Given the description of an element on the screen output the (x, y) to click on. 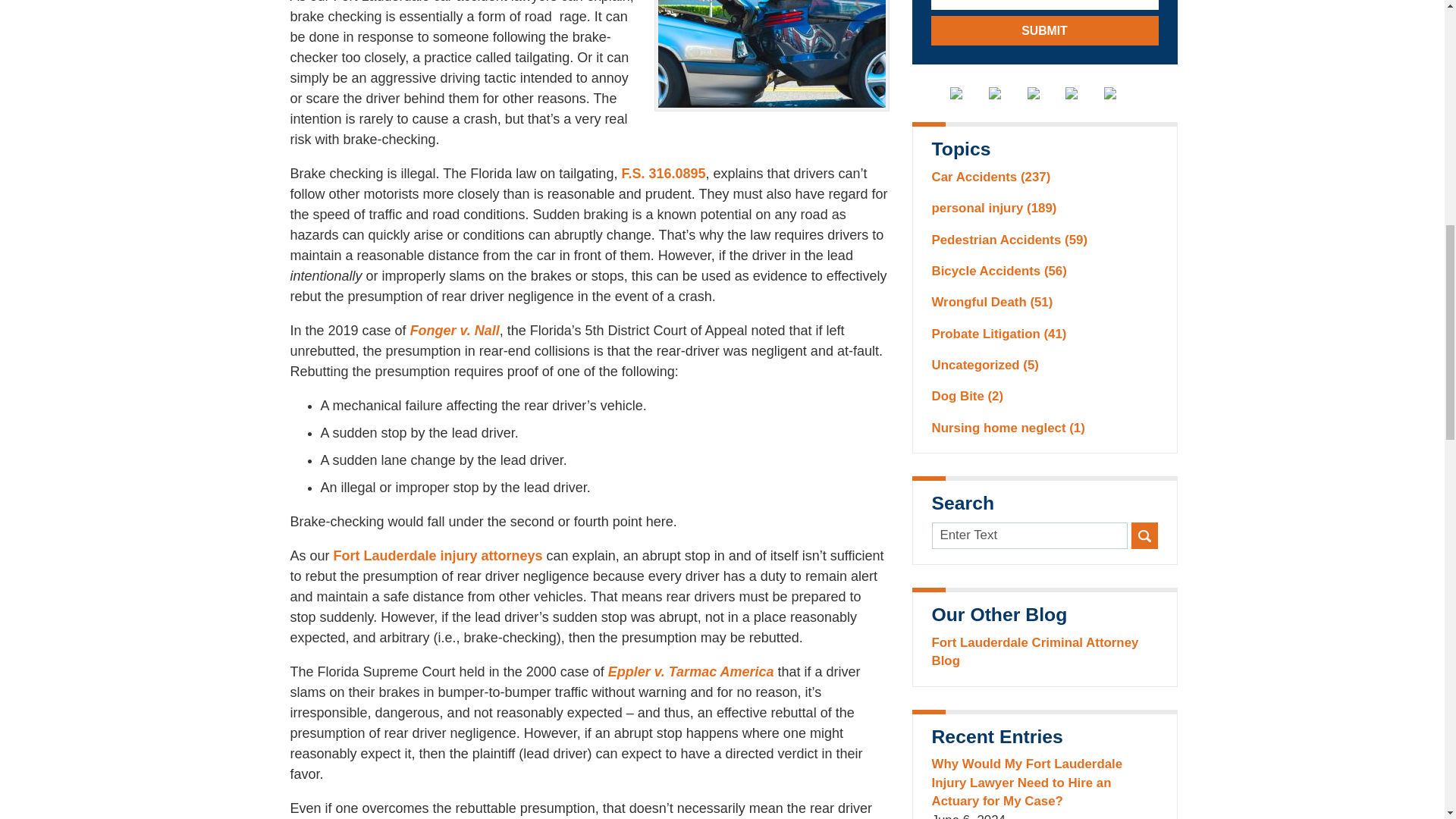
Facebook (967, 92)
F.S. 316.0895 (662, 173)
LinkedIn (1044, 92)
Twitter (1005, 92)
Eppler v. Tarmac America (691, 671)
Fort Lauderdale injury attorneys (438, 555)
Fonger v. Nall (454, 330)
Feed (1120, 92)
Justia (1082, 92)
